Given the description of an element on the screen output the (x, y) to click on. 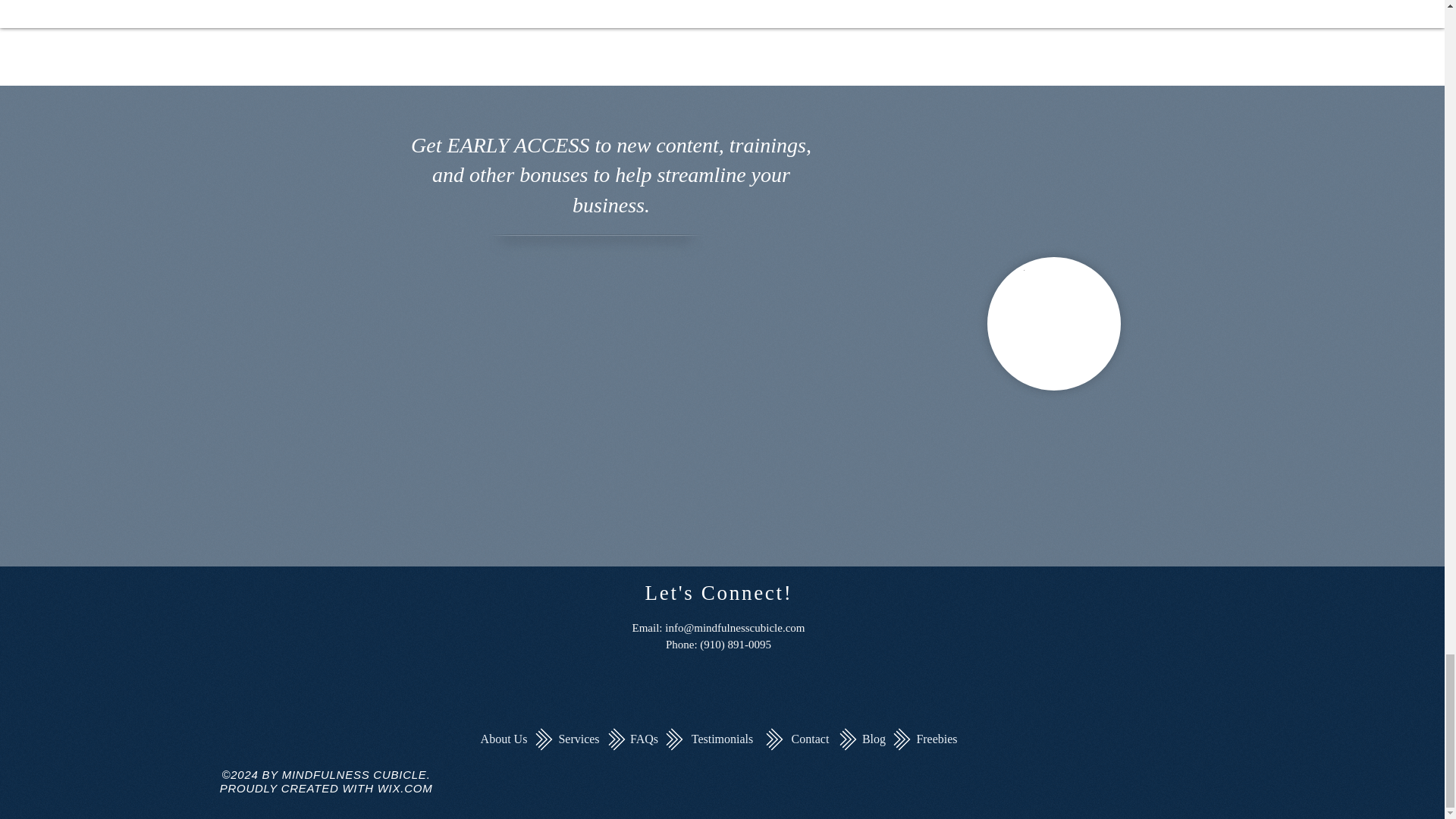
About Us (503, 739)
Services (579, 739)
FAQs (643, 739)
Blog (873, 739)
Freebies (936, 739)
Contact (809, 739)
Testimonials (722, 739)
